Given the description of an element on the screen output the (x, y) to click on. 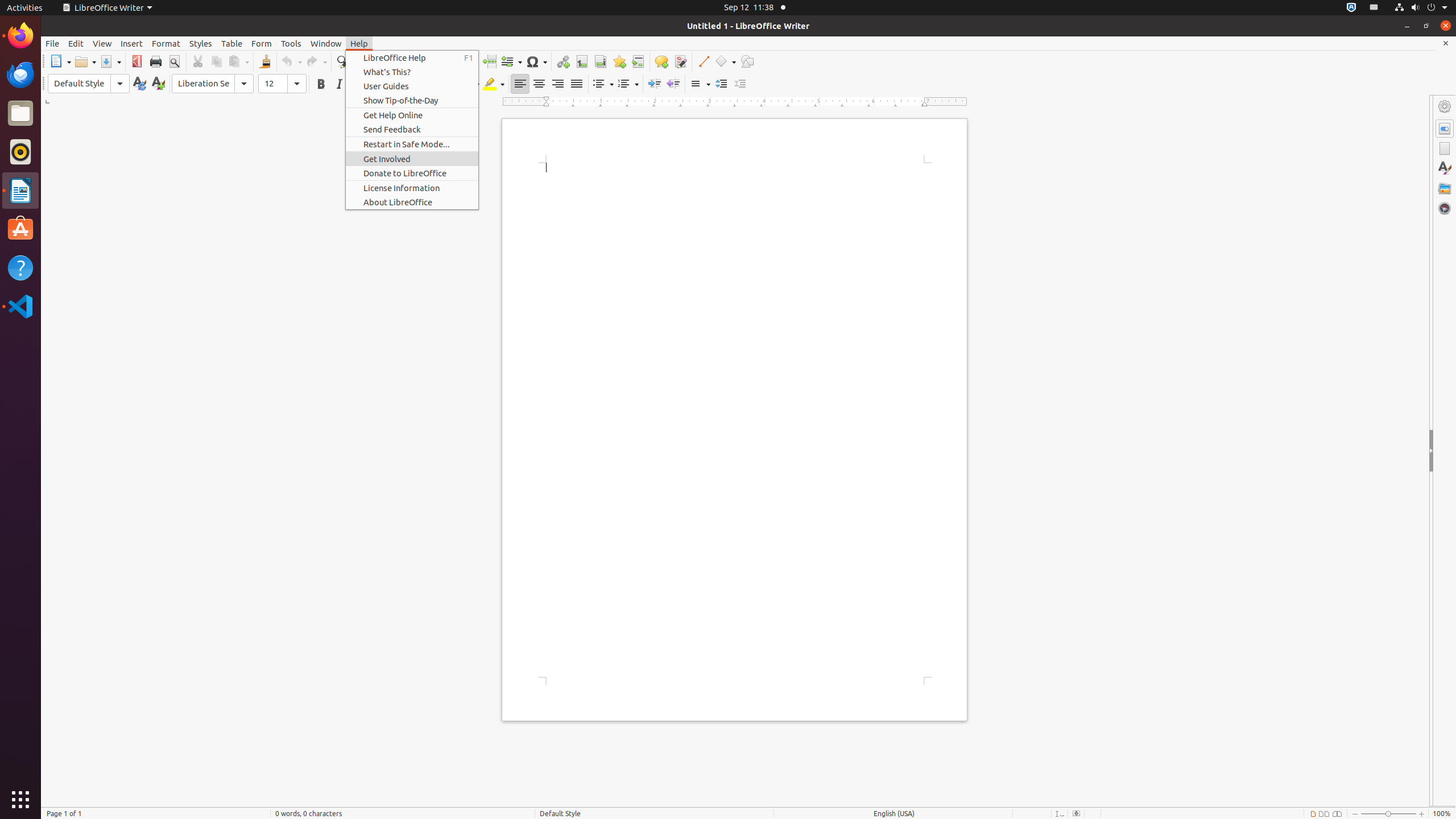
Print Element type: push-button (155, 61)
Decrease Element type: push-button (739, 83)
Cross-reference Element type: push-button (637, 61)
Paragraph Style Element type: combo-box (88, 83)
Navigator Element type: radio-button (1444, 208)
